Given the description of an element on the screen output the (x, y) to click on. 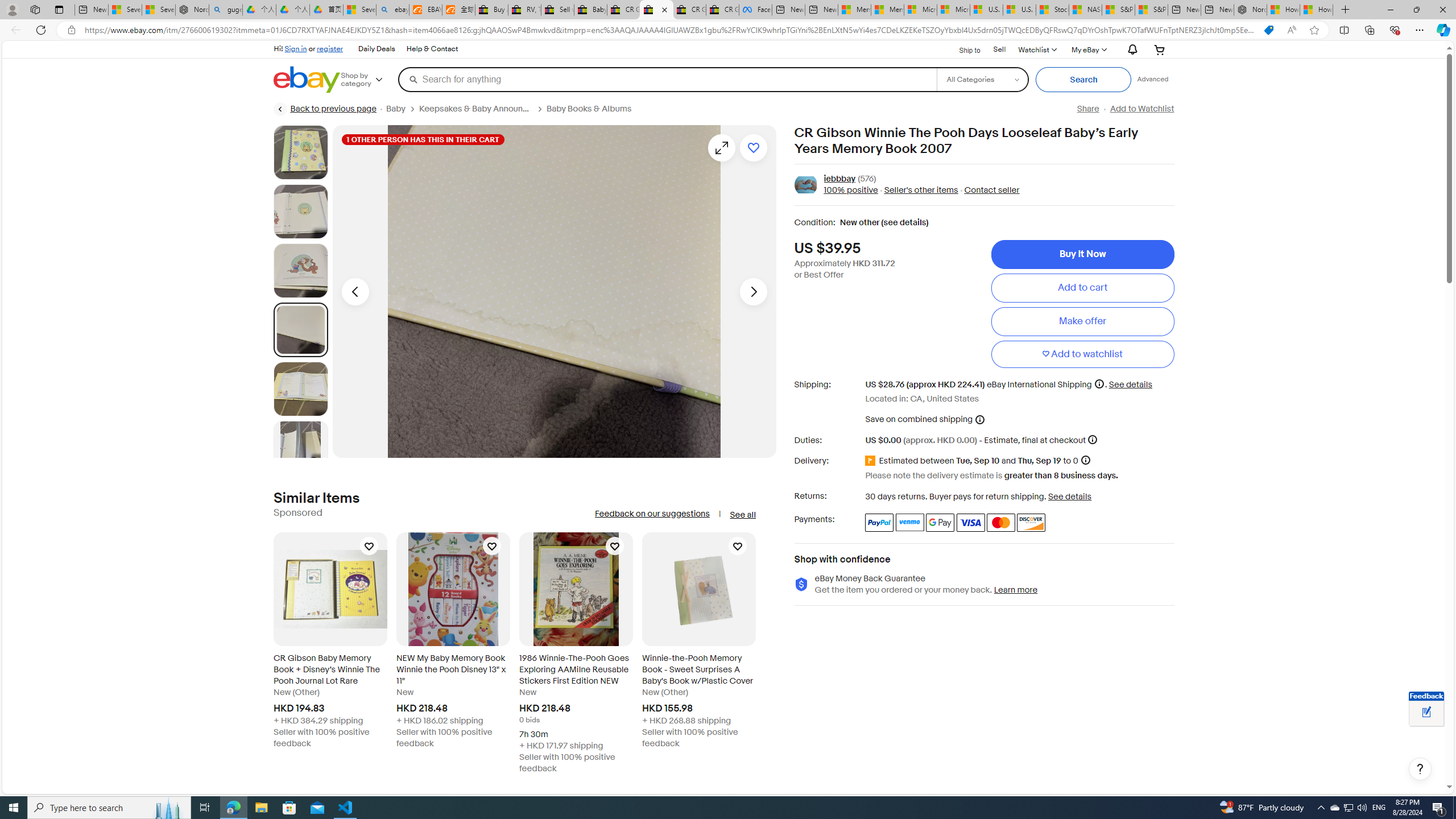
Ship to (962, 48)
Buy It Now (1082, 253)
Add to cart (1082, 287)
  Seller's other items (917, 190)
Your shopping cart (1159, 49)
Picture 6 of 22 (300, 447)
WatchlistExpand Watch List (1036, 49)
Picture 4 of 22 (300, 329)
